Given the description of an element on the screen output the (x, y) to click on. 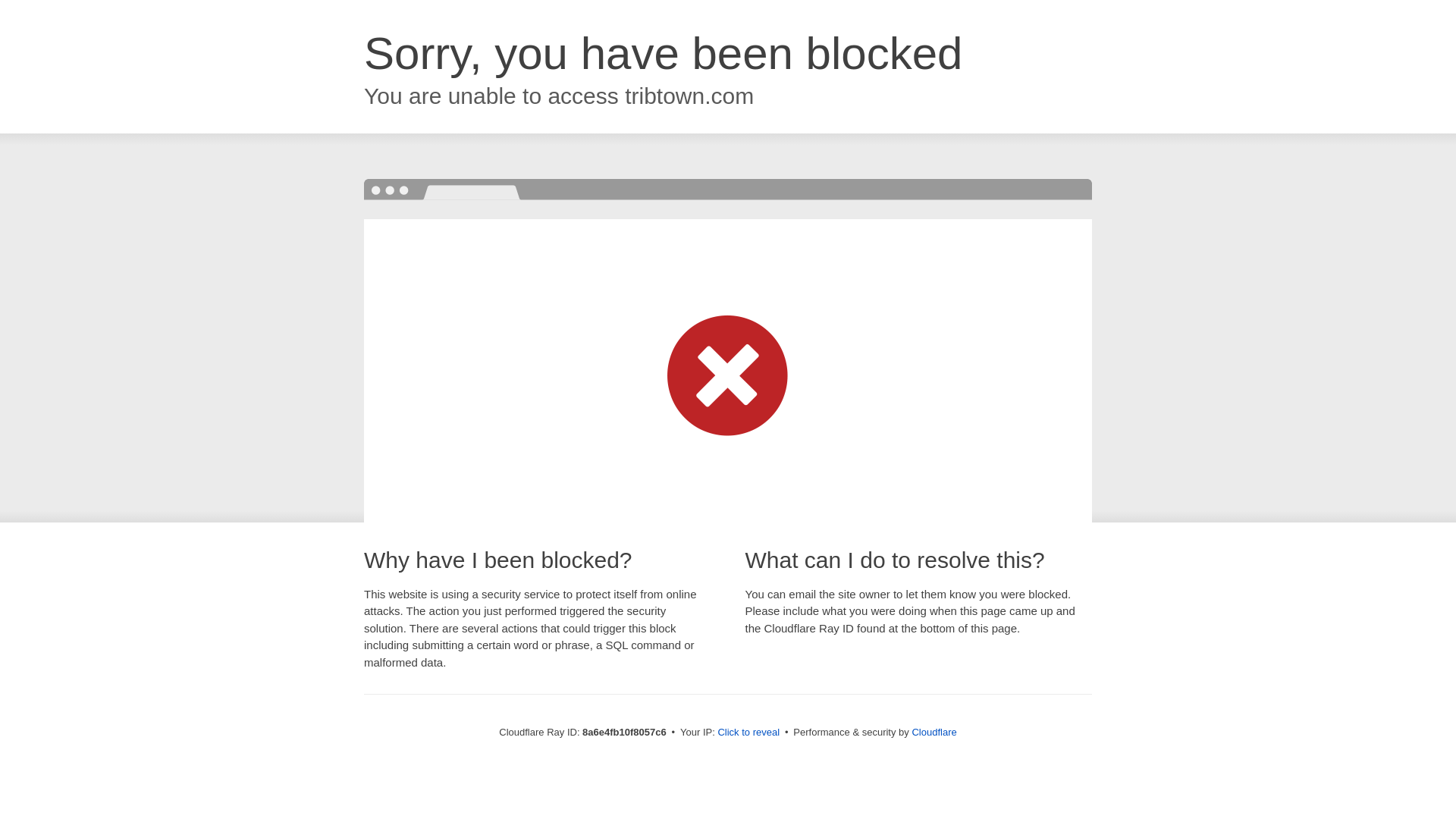
Cloudflare (933, 731)
Click to reveal (747, 732)
